Given the description of an element on the screen output the (x, y) to click on. 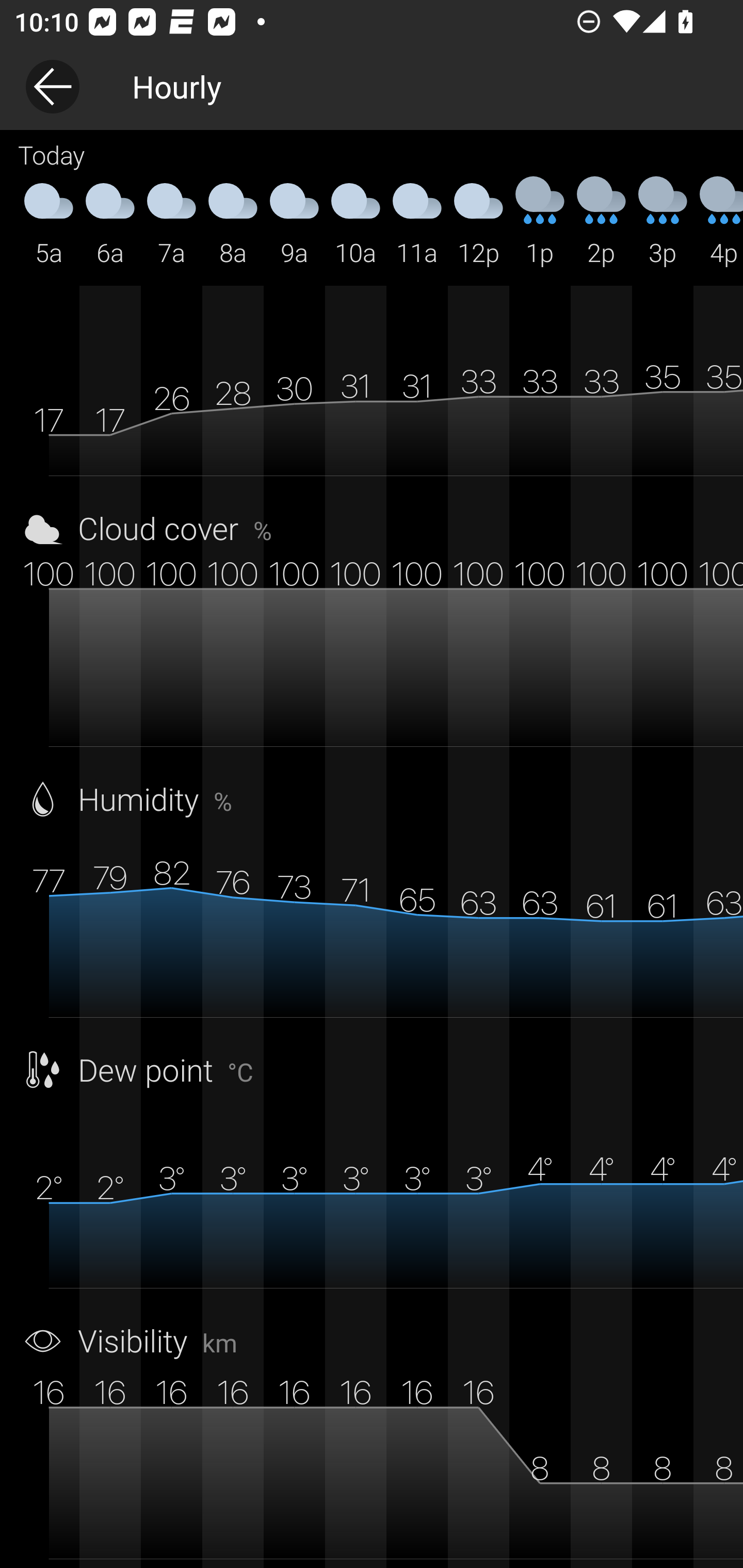
 (48, 186)
 (110, 186)
 (171, 186)
 (232, 186)
 (294, 186)
 (355, 186)
 (417, 186)
 (478, 186)
 (539, 186)
 (601, 186)
 (662, 186)
 (718, 186)
5a (48, 222)
6a (110, 222)
7a (171, 222)
8a (232, 222)
9a (294, 222)
10a (355, 222)
11a (417, 222)
12p (478, 222)
1p (539, 222)
2p (601, 222)
3p (662, 222)
4p (718, 222)
